Given the description of an element on the screen output the (x, y) to click on. 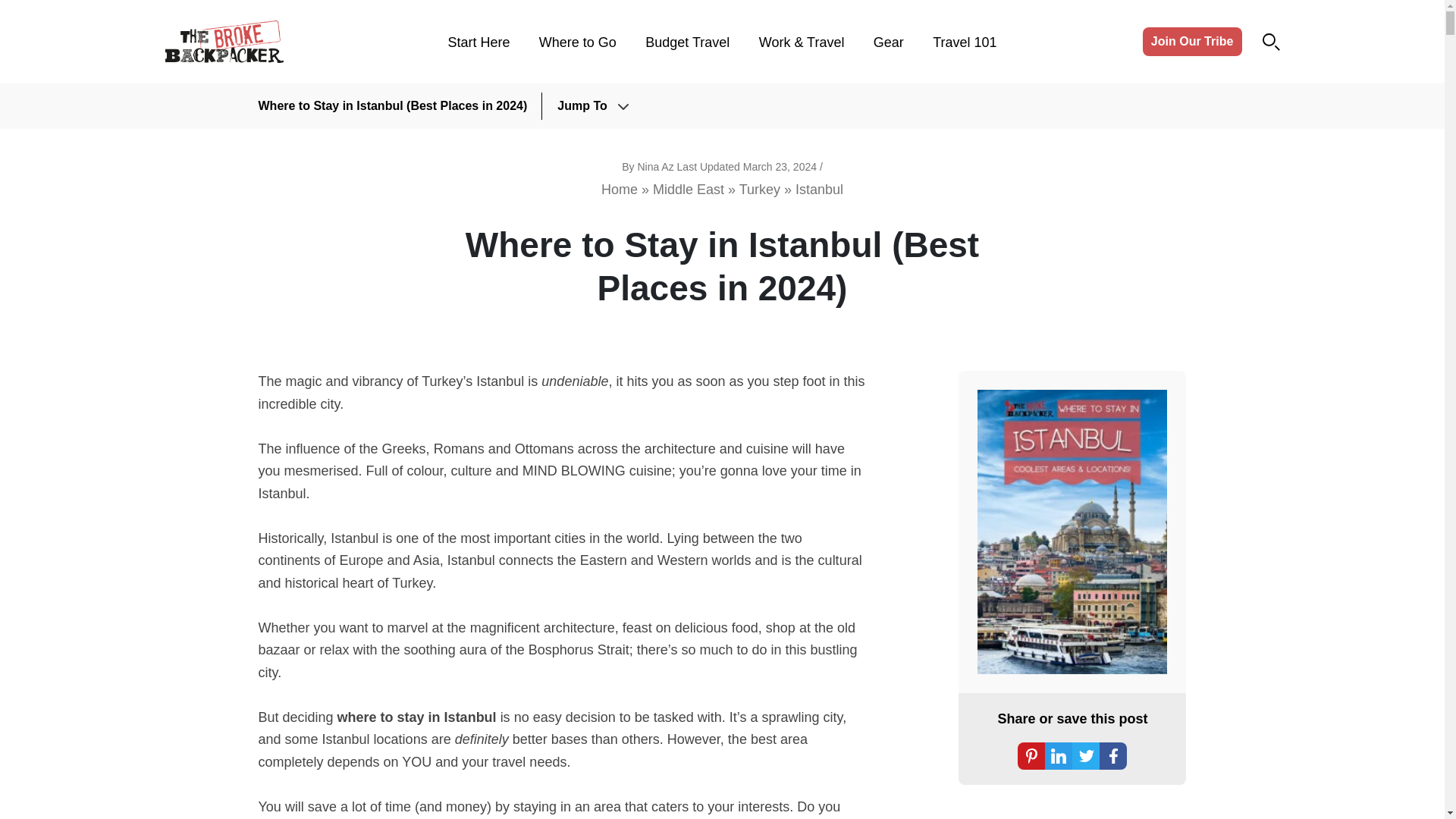
Where to Go (576, 42)
Start Here (477, 42)
